Given the description of an element on the screen output the (x, y) to click on. 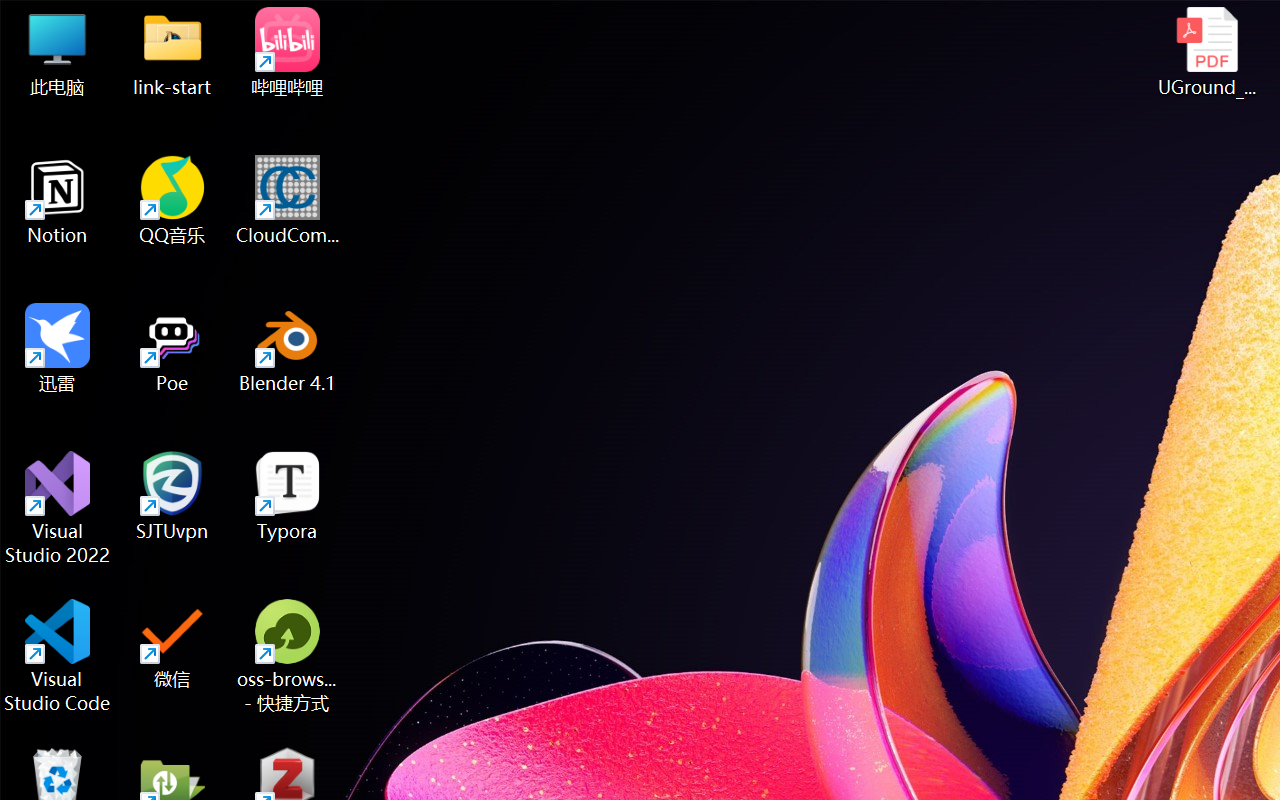
Visual Studio 2022 (57, 508)
Poe (172, 348)
Notion (57, 200)
UGround_paper.pdf (1206, 52)
Visual Studio Code (57, 656)
Blender 4.1 (287, 348)
Typora (287, 496)
SJTUvpn (172, 496)
CloudCompare (287, 200)
